Given the description of an element on the screen output the (x, y) to click on. 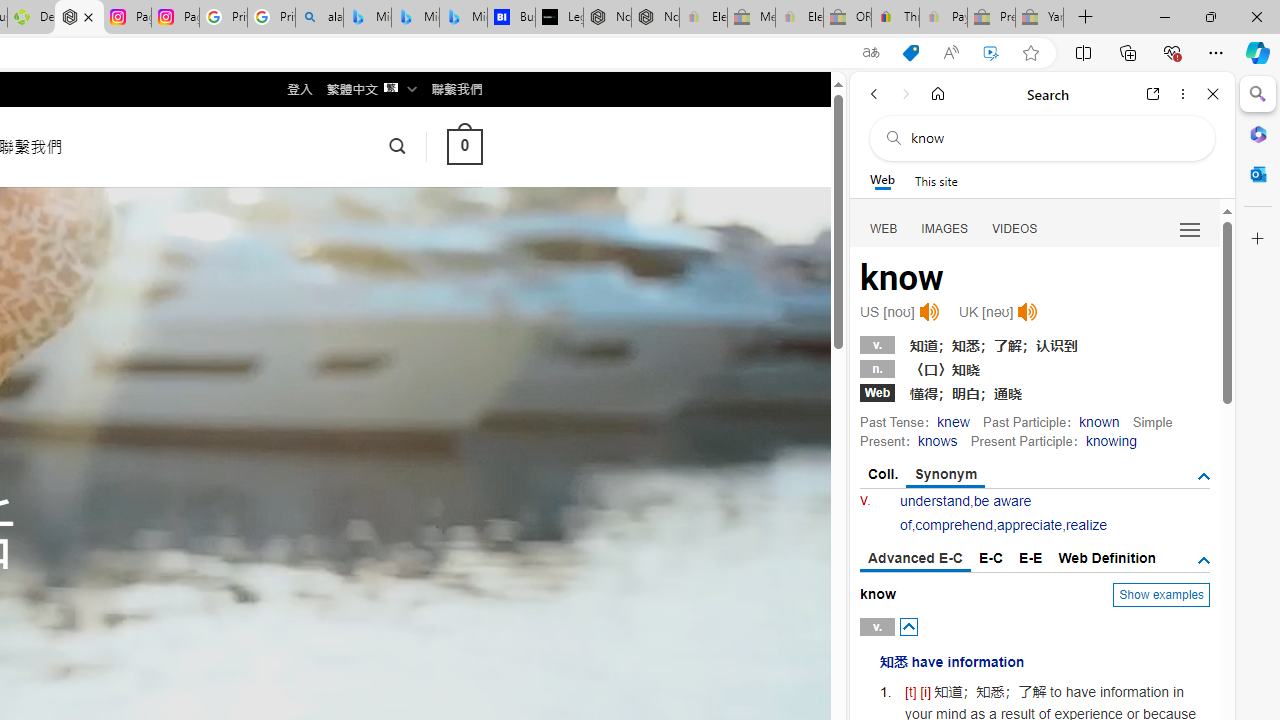
Coll. (883, 473)
WEB (884, 228)
Press Room - eBay Inc. - Sleeping (991, 17)
AutomationID: posbtn_0 (908, 626)
knows (936, 440)
comprehend (954, 524)
E-C (991, 557)
